Given the description of an element on the screen output the (x, y) to click on. 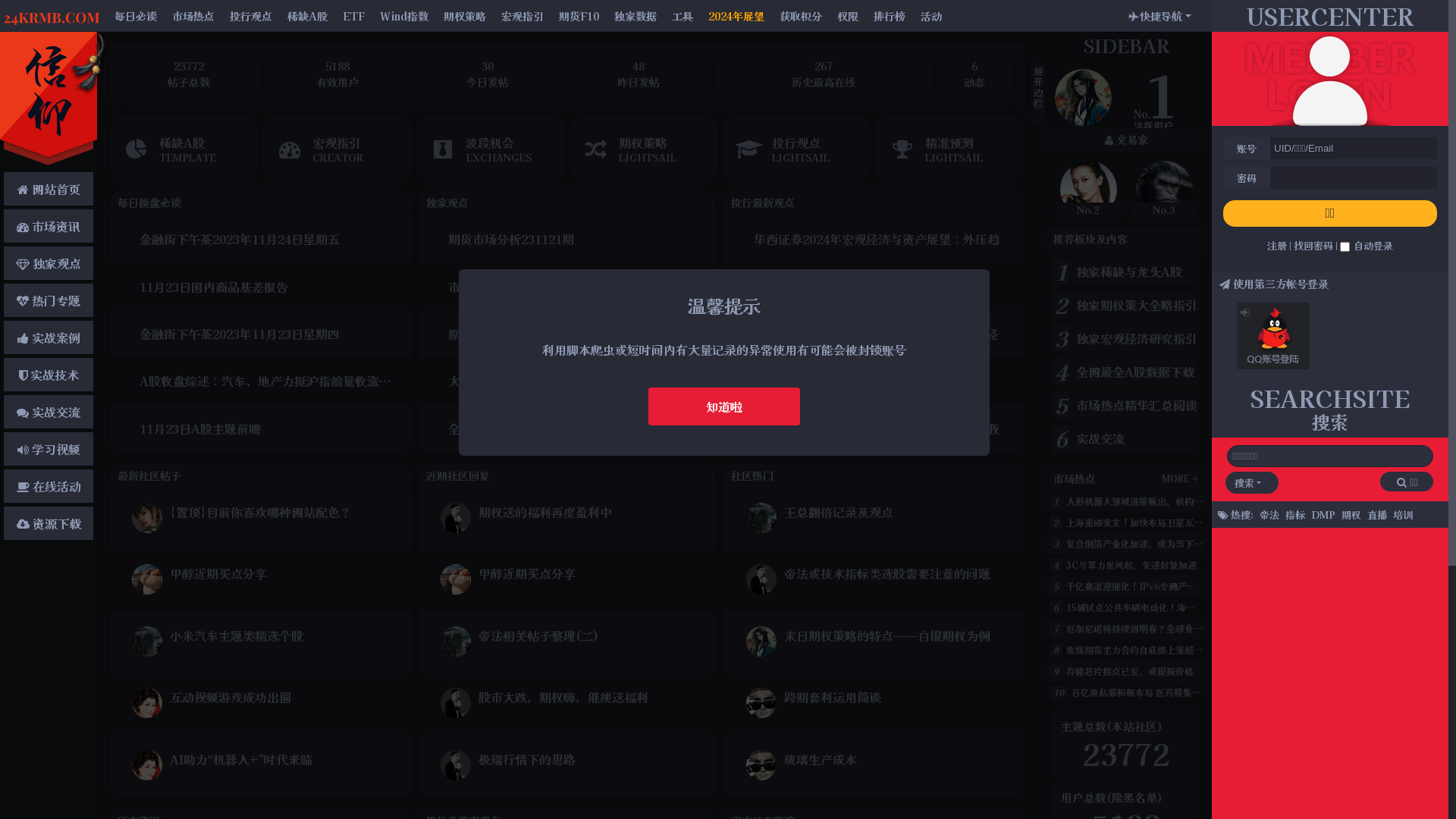
zyhalq Element type: hover (146, 580)
ETF Element type: text (360, 15)
MORE + Element type: text (1179, 477)
No.3 Element type: text (1163, 188)
zyhalq Element type: hover (455, 580)
DMP Element type: text (1323, 513)
No.2 Element type: text (1087, 188)
24KRMB.COM Element type: hover (58, 15)
